Given the description of an element on the screen output the (x, y) to click on. 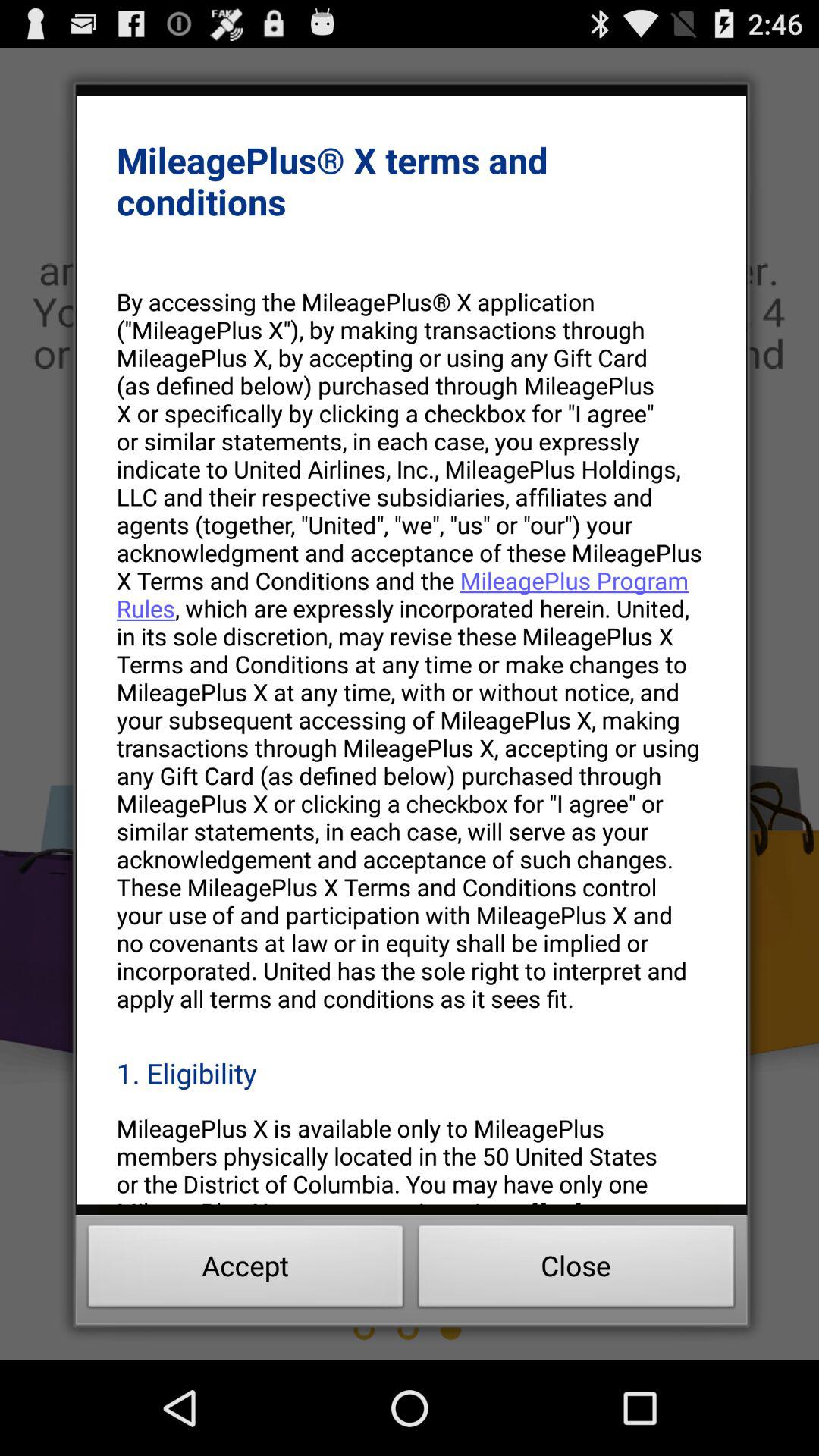
jump until the accept icon (245, 1270)
